Given the description of an element on the screen output the (x, y) to click on. 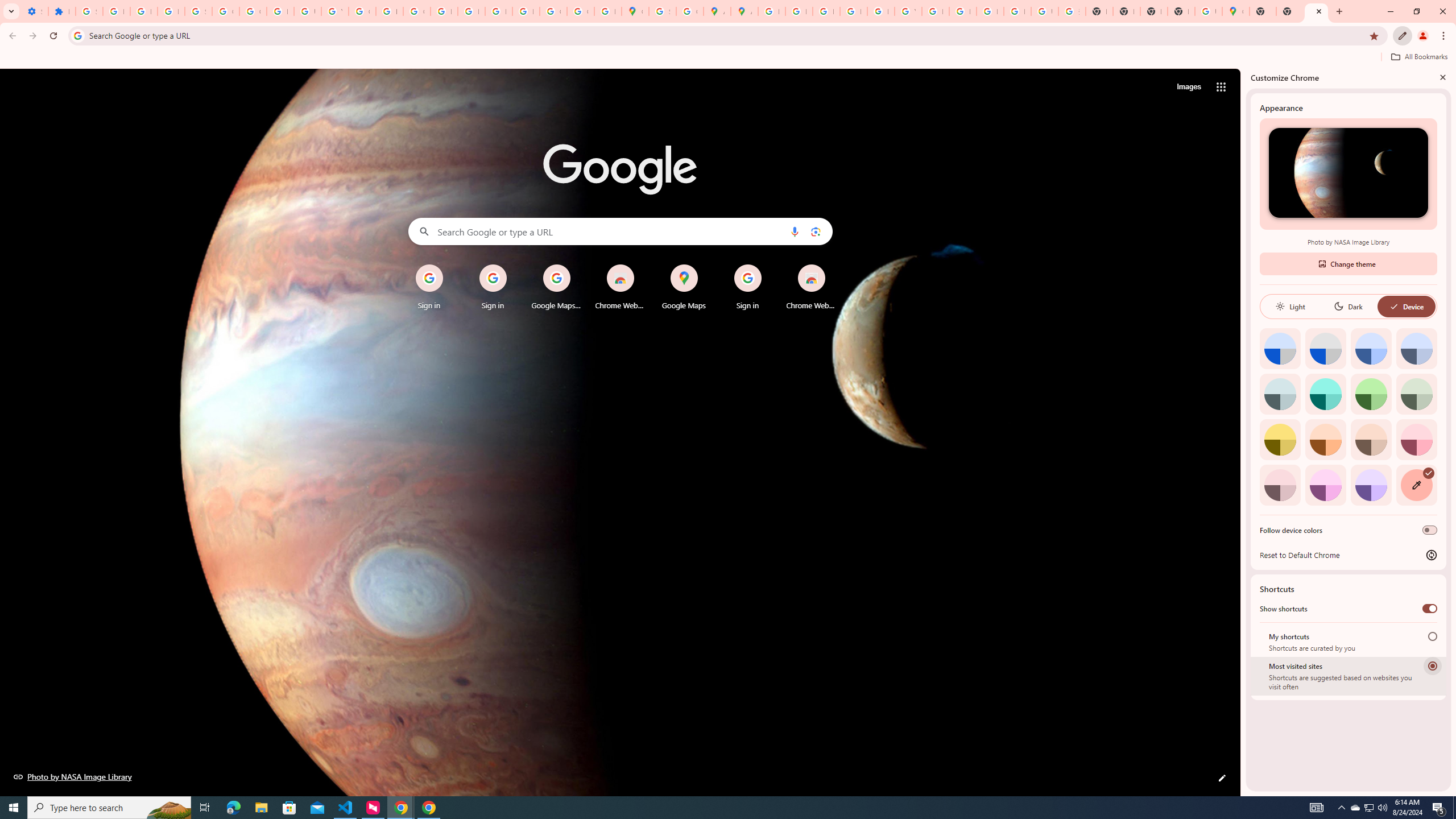
Reset to Default Chrome (1347, 554)
Chrome Web Store (810, 287)
Grey default color (1325, 348)
Google Maps (1236, 11)
Google Maps (684, 287)
New Tab (1180, 11)
New Tab (1262, 11)
Privacy Help Center - Policies Help (826, 11)
Blue (1371, 348)
Google Maps Help (556, 287)
Orange (1325, 439)
